Given the description of an element on the screen output the (x, y) to click on. 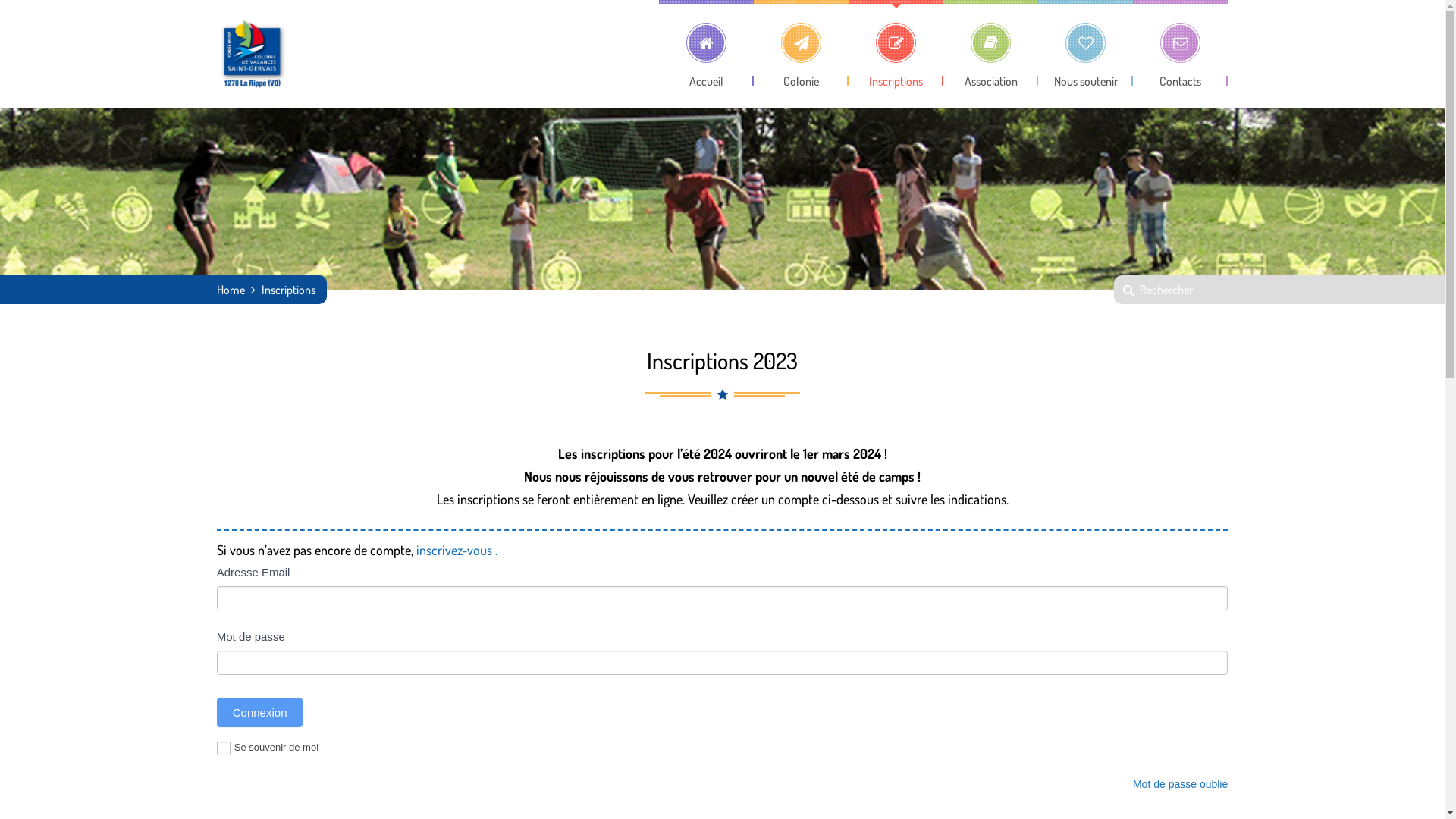
Colonie Element type: text (800, 43)
Association Element type: text (990, 43)
Contacts Element type: text (1179, 43)
Connexion Element type: text (259, 712)
inscrivez-vous . Element type: text (455, 549)
Accueil Element type: text (705, 43)
Nous soutenir Element type: text (1085, 43)
Inscriptions Element type: text (895, 43)
Home Element type: text (230, 289)
Colonie Saint-Gervais Element type: hover (252, 53)
